Given the description of an element on the screen output the (x, y) to click on. 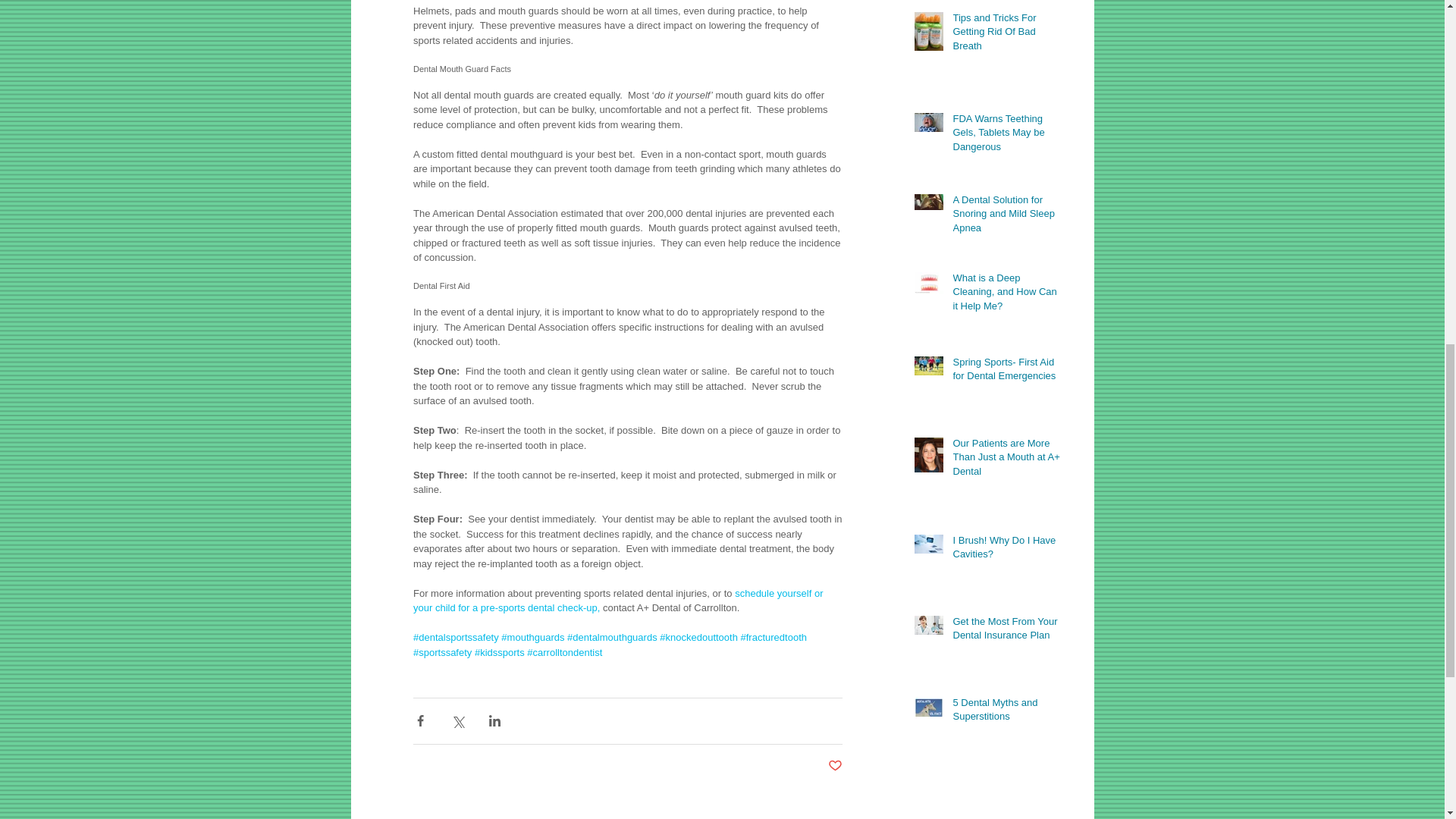
Tips and Tricks For Getting Rid Of Bad Breath (1006, 34)
FDA Warns Teething Gels, Tablets May be Dangerous (1006, 135)
Post not marked as liked (835, 765)
A Dental Solution for Snoring and Mild Sleep Apnea (1006, 216)
